Given the description of an element on the screen output the (x, y) to click on. 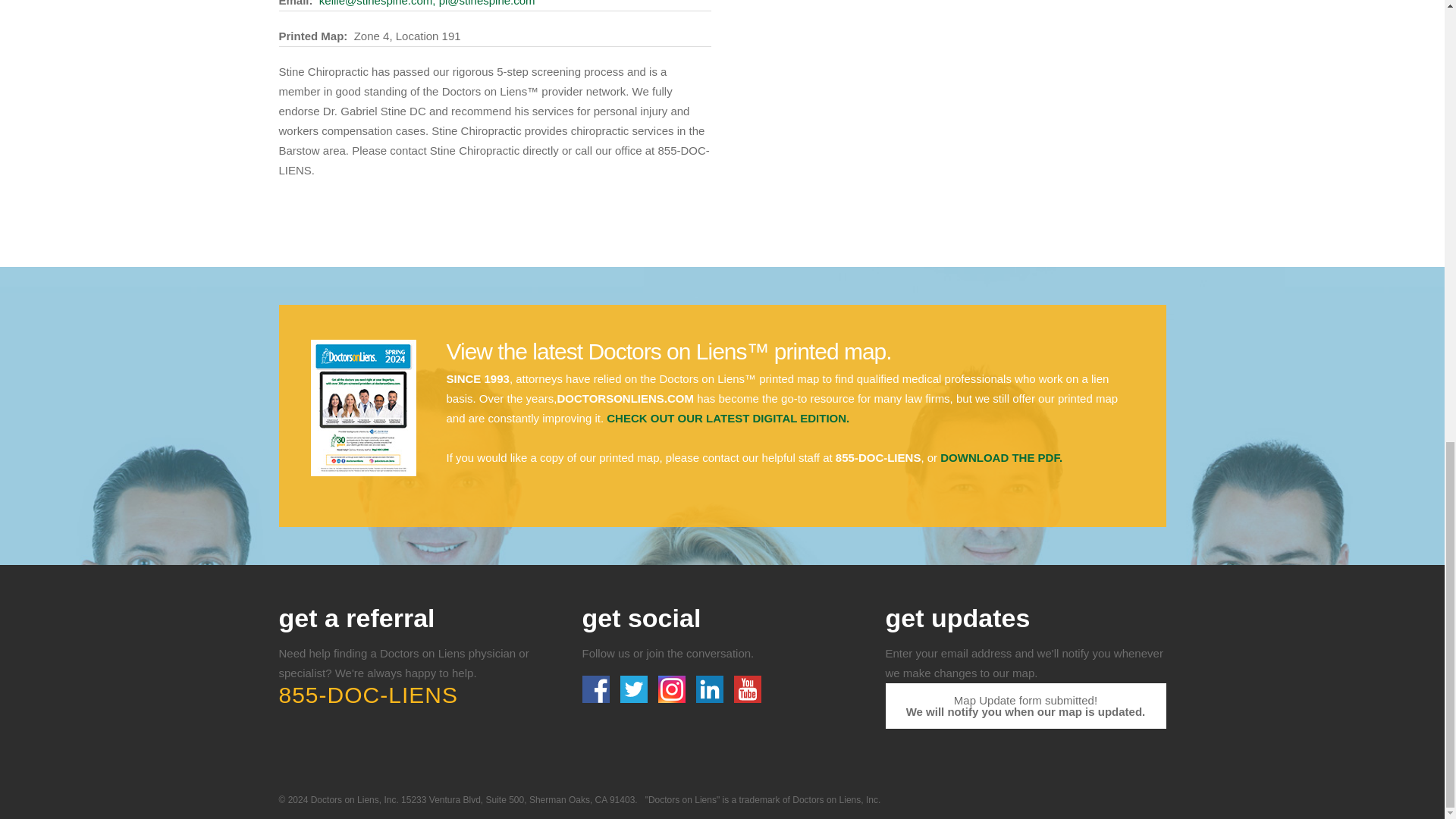
Facebook (599, 668)
YouTube (750, 668)
LinkedIn (712, 668)
Twitter (637, 668)
